Given the description of an element on the screen output the (x, y) to click on. 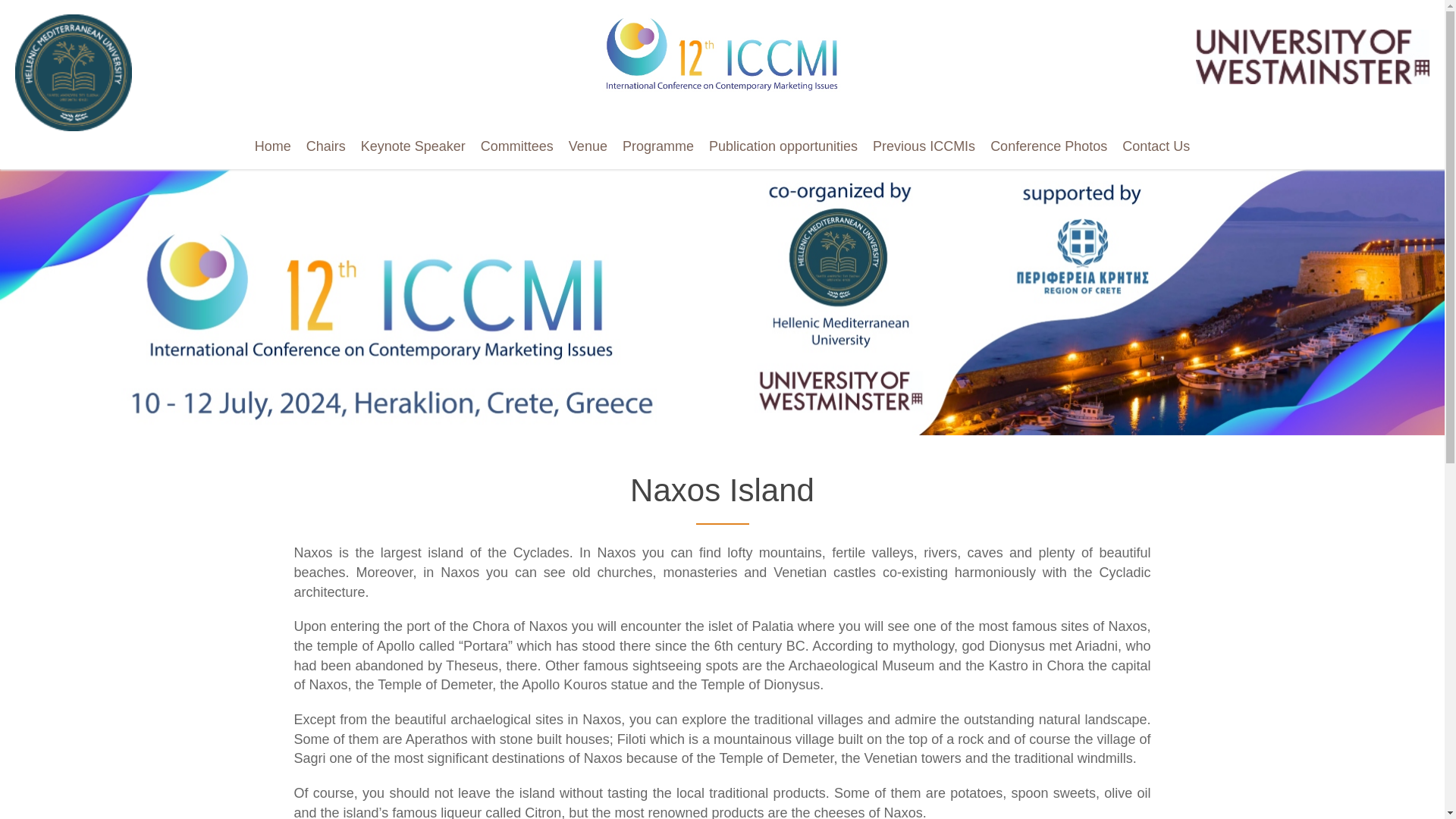
Home (272, 146)
Publication opportunities (782, 146)
Previous ICCMIs (923, 146)
Keynote Speaker (413, 146)
Chairs (325, 146)
Venue (587, 146)
Contact Us (1155, 146)
Programme (657, 146)
Committees (516, 146)
Conference Photos (1048, 146)
